Given the description of an element on the screen output the (x, y) to click on. 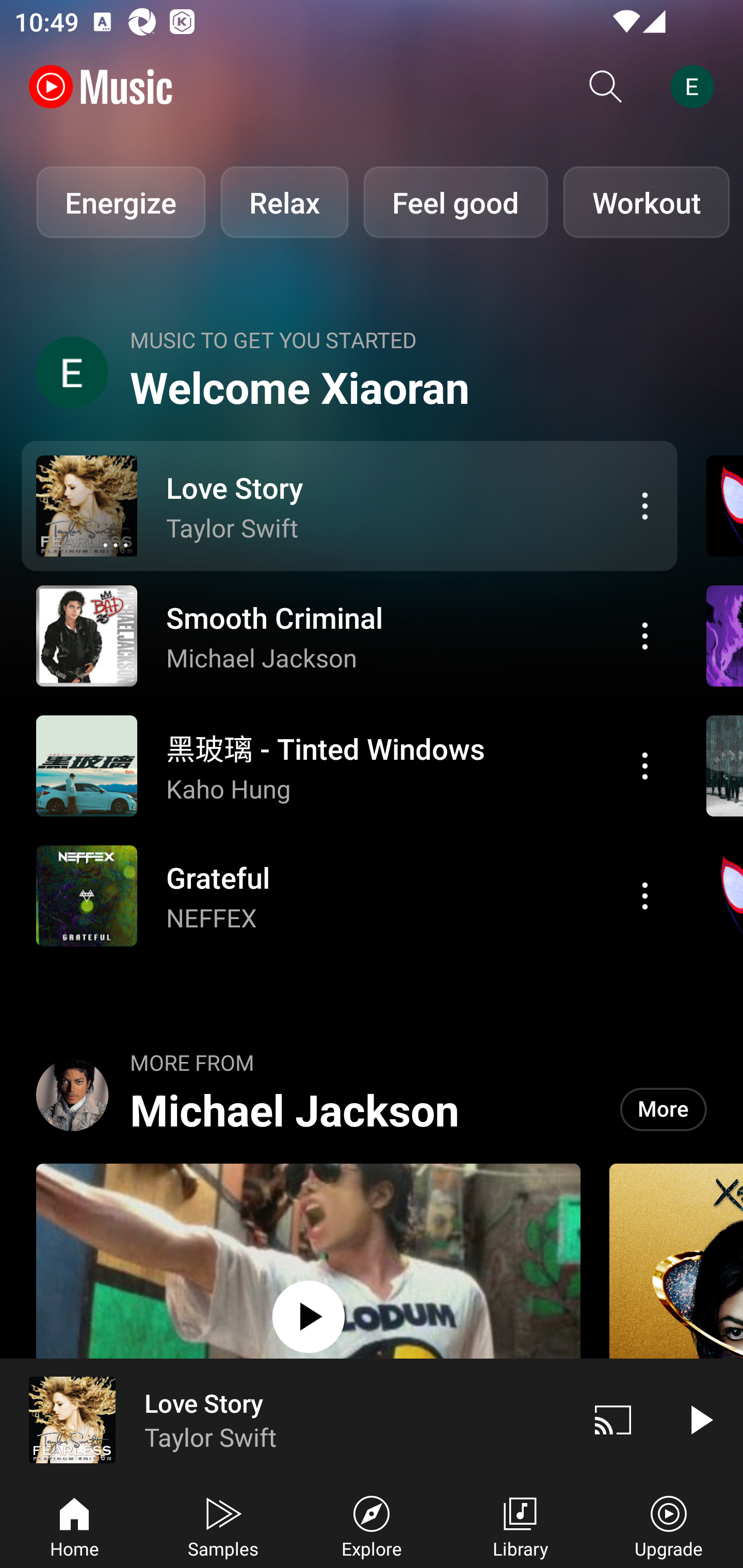
Search (605, 86)
Account (696, 86)
Action menu (349, 505)
Action menu (644, 505)
Action menu (349, 635)
Action menu (644, 635)
Action menu (349, 765)
Action menu (644, 765)
Action menu (349, 896)
Action menu (644, 896)
Love Story Taylor Swift (284, 1419)
Cast. Disconnected (612, 1419)
Play video (699, 1419)
Home (74, 1524)
Samples (222, 1524)
Explore (371, 1524)
Library (519, 1524)
Upgrade (668, 1524)
